Given the description of an element on the screen output the (x, y) to click on. 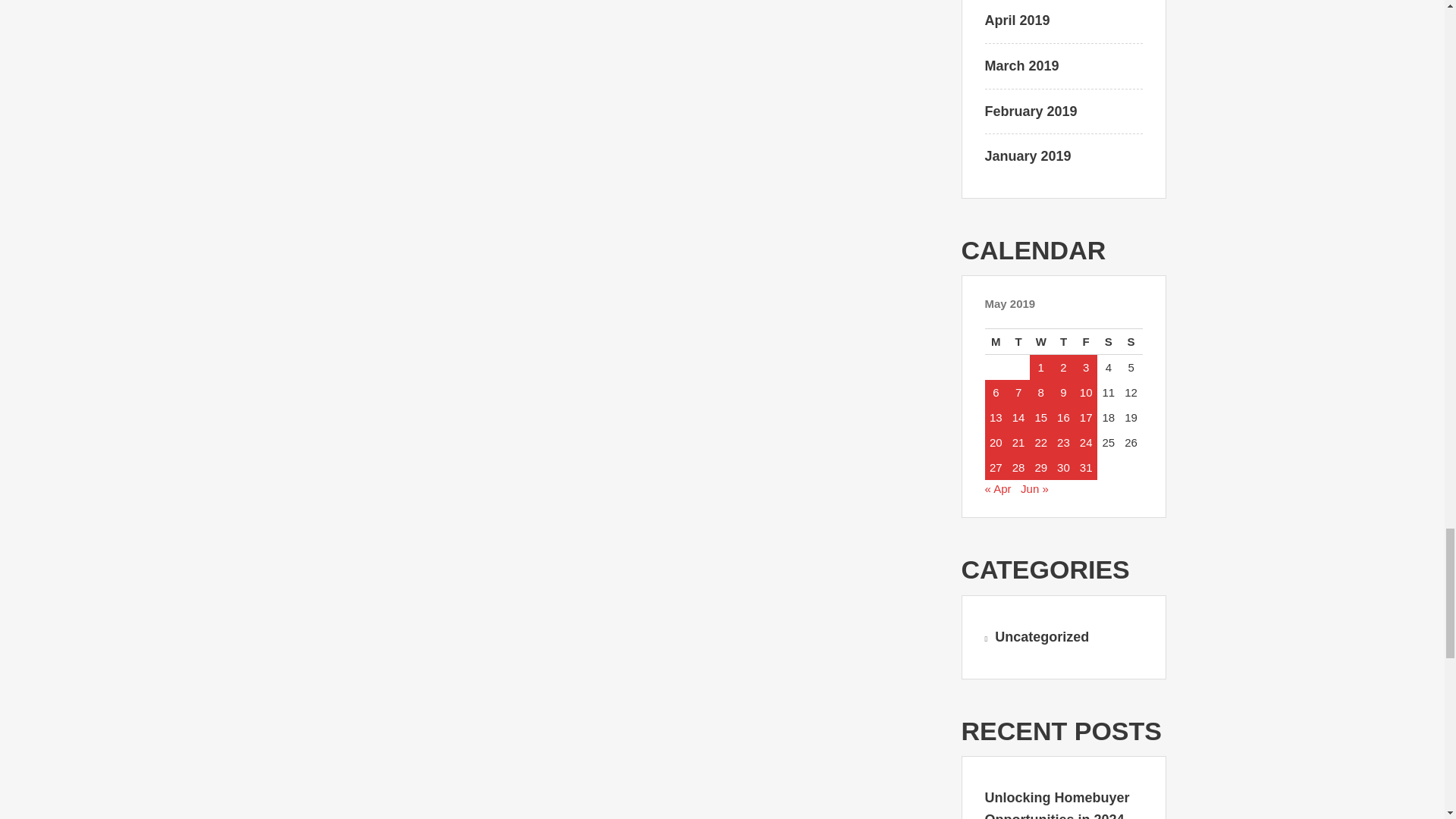
Monday (995, 341)
Tuesday (1018, 341)
Wednesday (1040, 341)
